Given the description of an element on the screen output the (x, y) to click on. 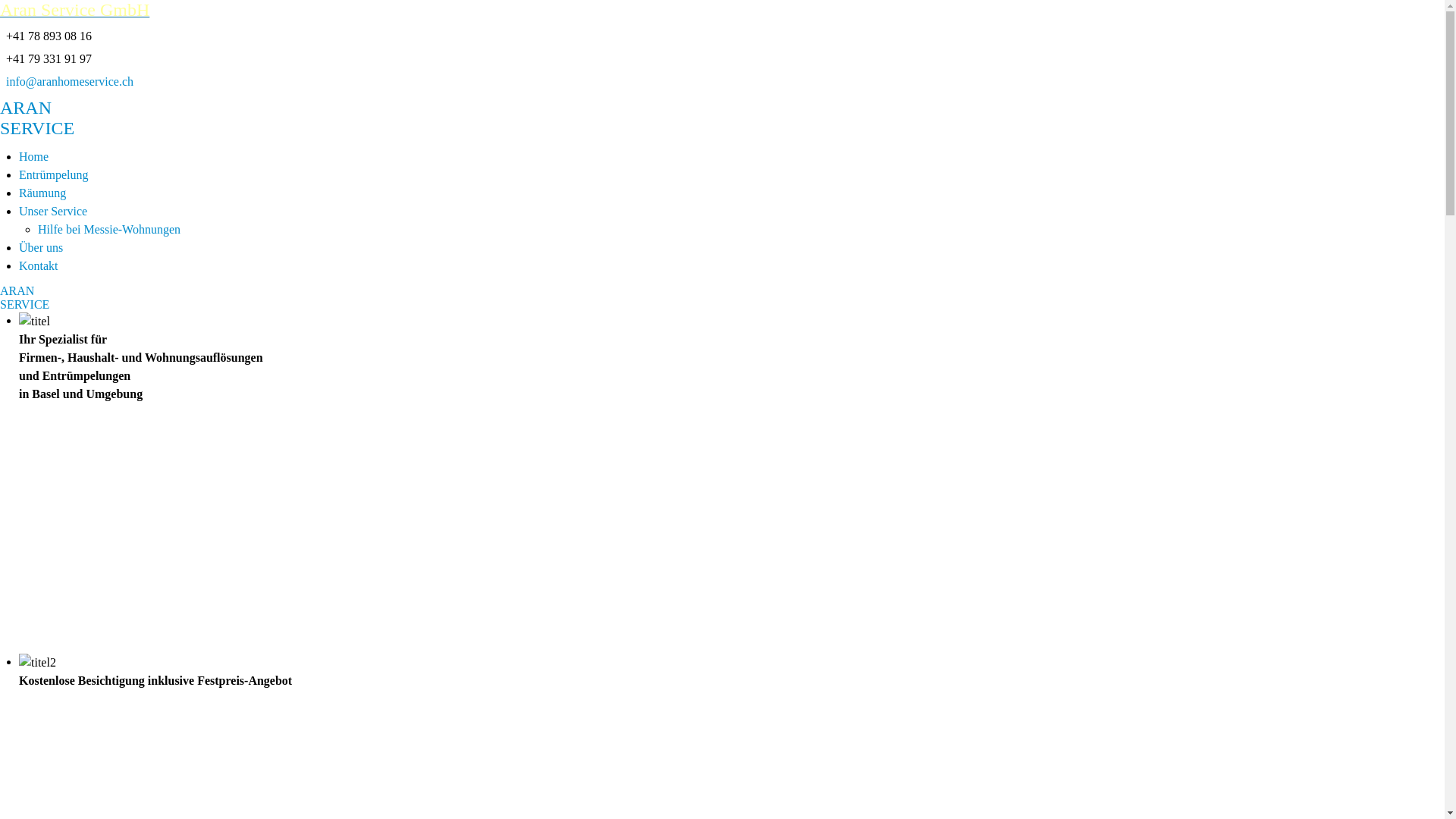
info@aranhomeservice.ch Element type: text (69, 81)
ARAN
SERVICE Element type: text (722, 117)
Unser Service Element type: text (52, 210)
Kontakt Element type: text (38, 265)
Aran Service GmbH Element type: text (722, 10)
Home Element type: text (33, 156)
ARAN
SERVICE Element type: text (24, 297)
Hilfe bei Messie-Wohnungen Element type: text (108, 228)
